Given the description of an element on the screen output the (x, y) to click on. 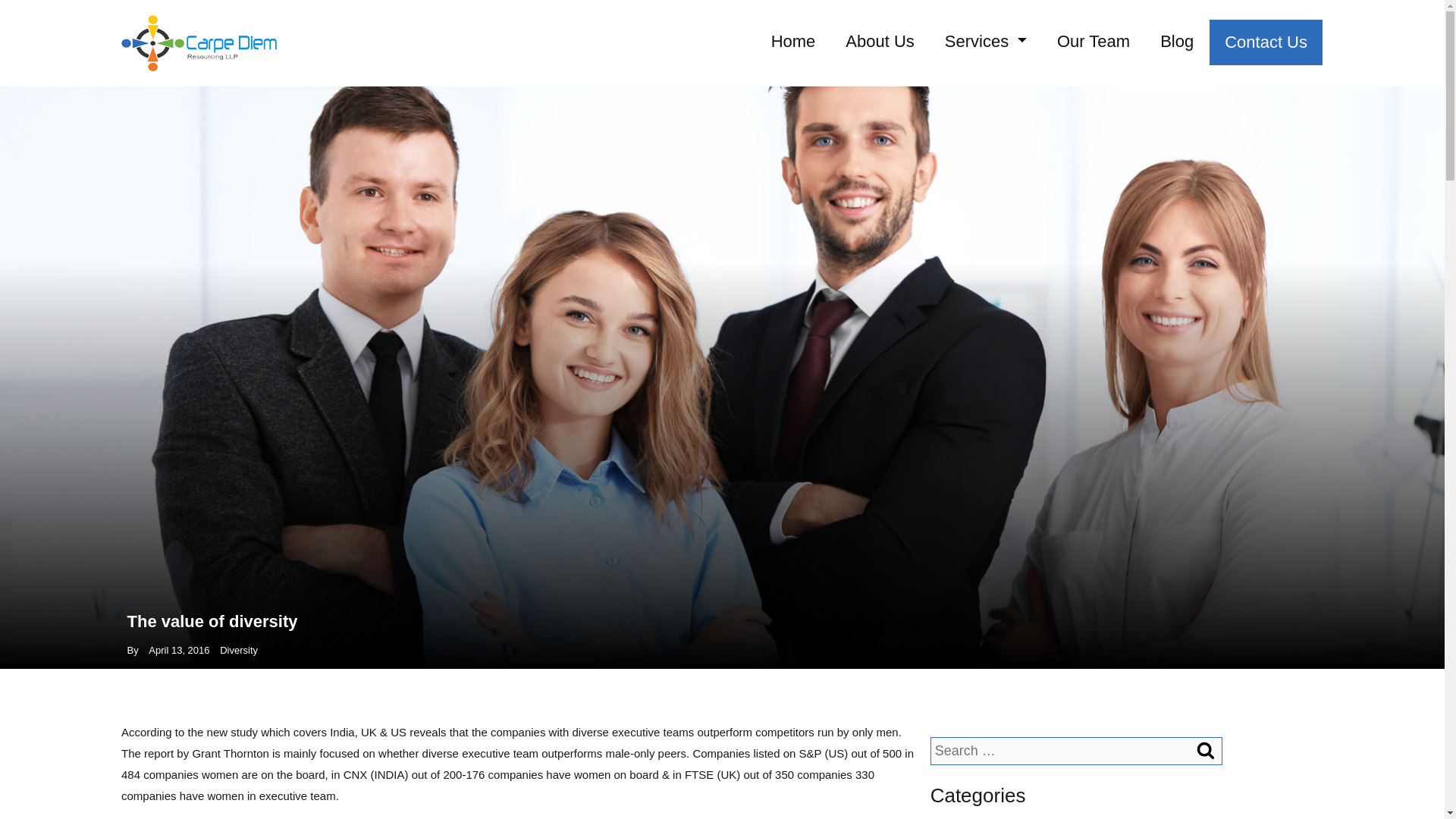
Diversity (238, 650)
Blog (1176, 41)
Contact Us (1265, 42)
Contact Us (1265, 42)
About Us (879, 41)
April 13, 2016 (178, 650)
Our Team (1093, 41)
Our Team (1093, 41)
About Us (879, 41)
Services (986, 41)
Blog (1176, 41)
Home (793, 41)
Home (793, 41)
Services (986, 41)
